Given the description of an element on the screen output the (x, y) to click on. 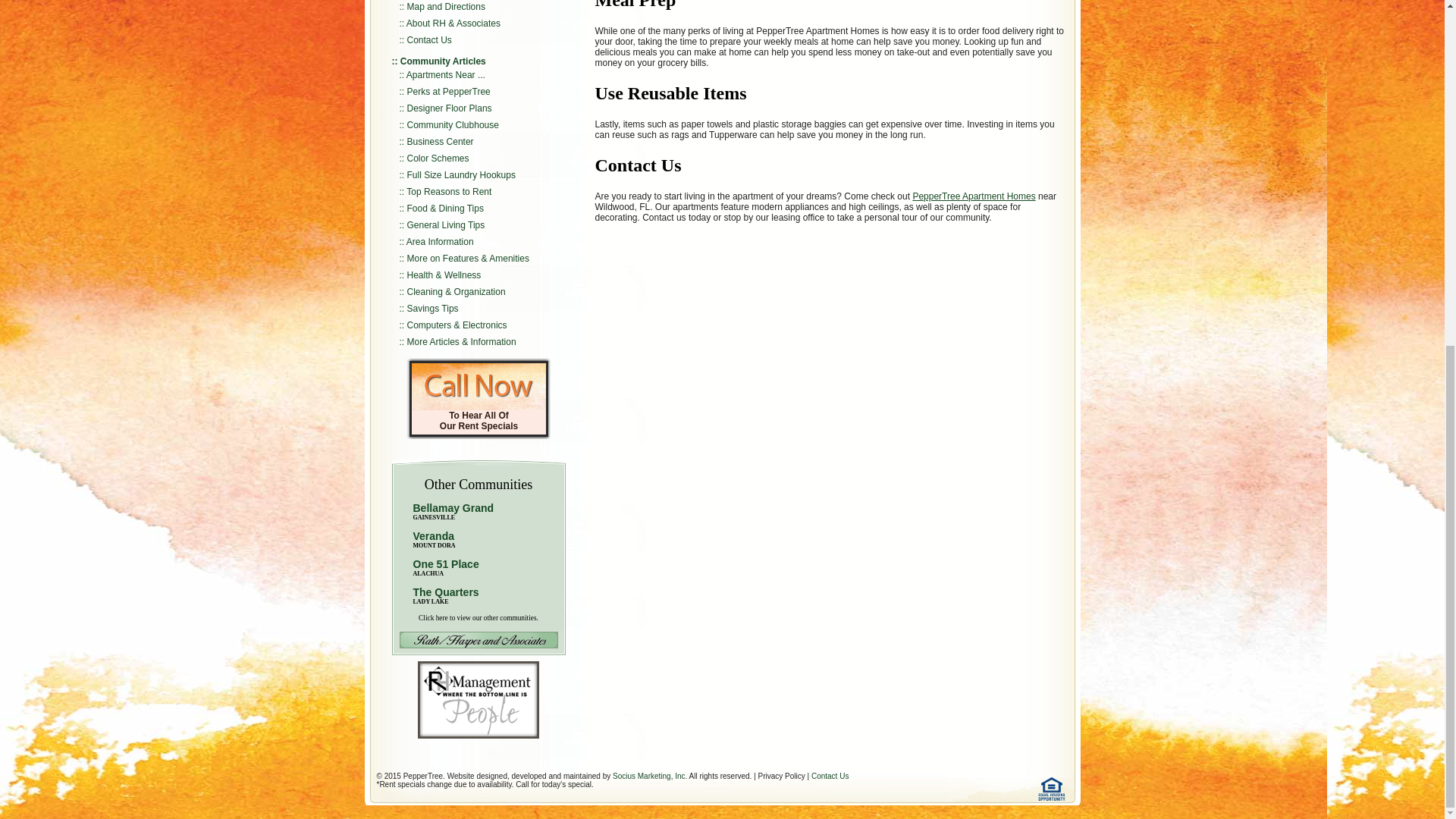
The Quarters (445, 592)
Full Size Laundry Hookups (461, 174)
Contact Us (429, 40)
Top Reasons to Rent (449, 191)
Designer Floor Plans (449, 108)
Business Center (440, 141)
General Living Tips (445, 225)
Apartments Near ... (445, 74)
One 51 Place (445, 563)
Community Clubhouse (453, 124)
